Given the description of an element on the screen output the (x, y) to click on. 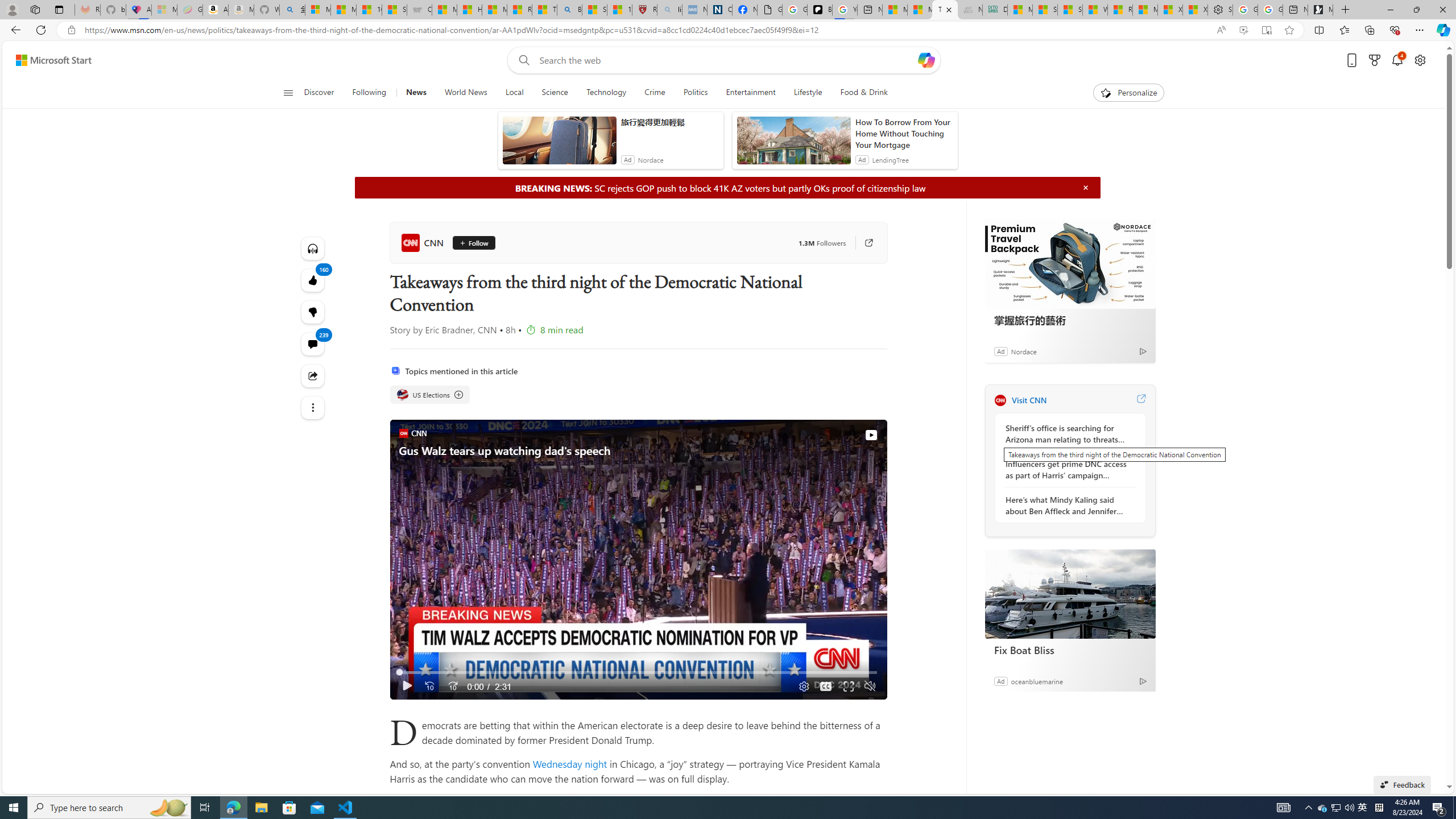
Microsoft Start Gaming (1320, 9)
How I Got Rid of Microsoft Edge's Unnecessary Features (469, 9)
World News (465, 92)
Follow (473, 242)
